Given the description of an element on the screen output the (x, y) to click on. 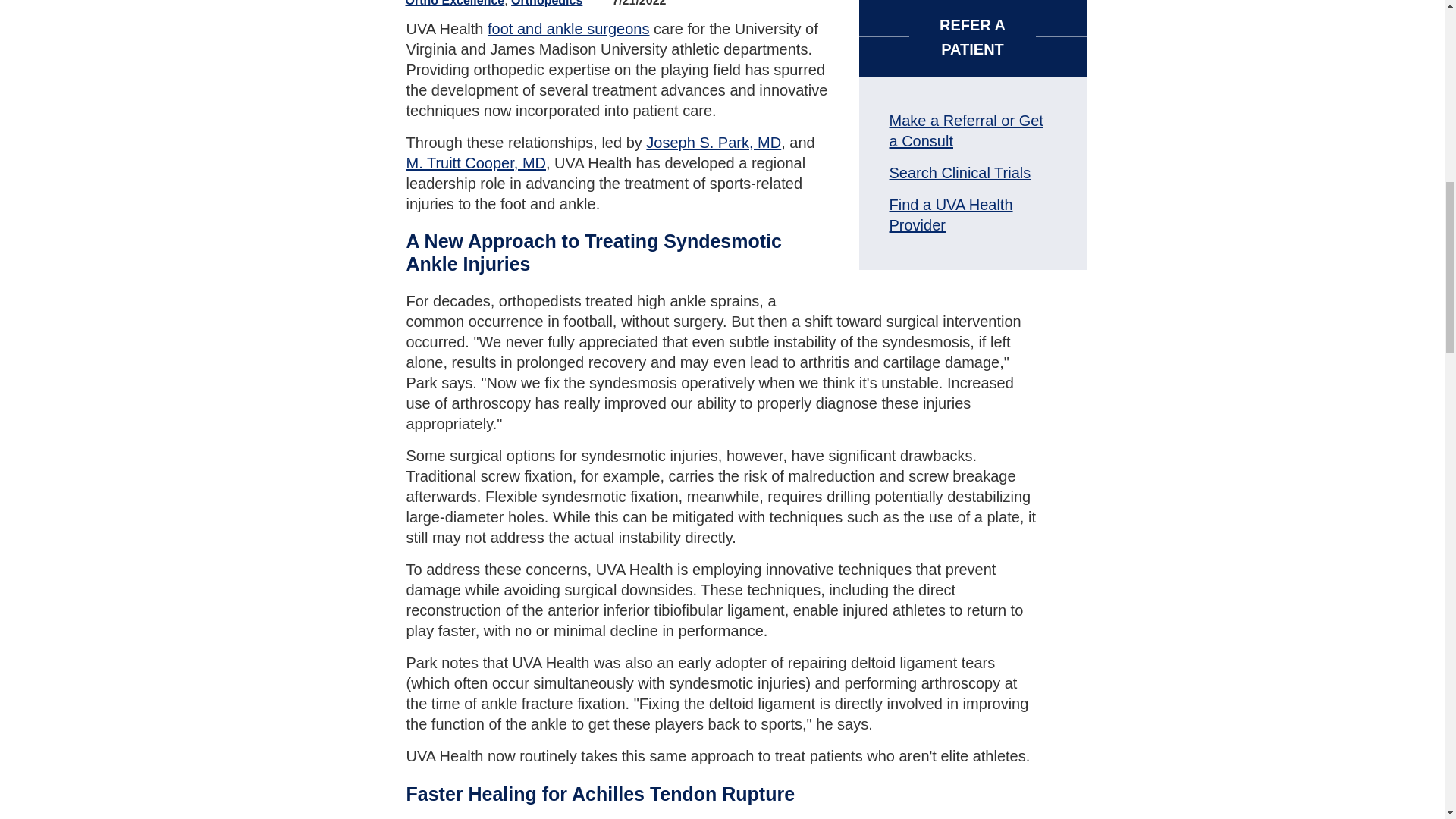
Ortho Excellence (453, 3)
M. Truitt Cooper, MD (476, 162)
Find a UVA Health Provider (949, 214)
Joseph S. Park, MD (713, 142)
foot and ankle surgeons (568, 28)
Make a Referral or Get a Consult (965, 130)
Search Clinical Trials (959, 172)
Orthopedics (546, 3)
